Given the description of an element on the screen output the (x, y) to click on. 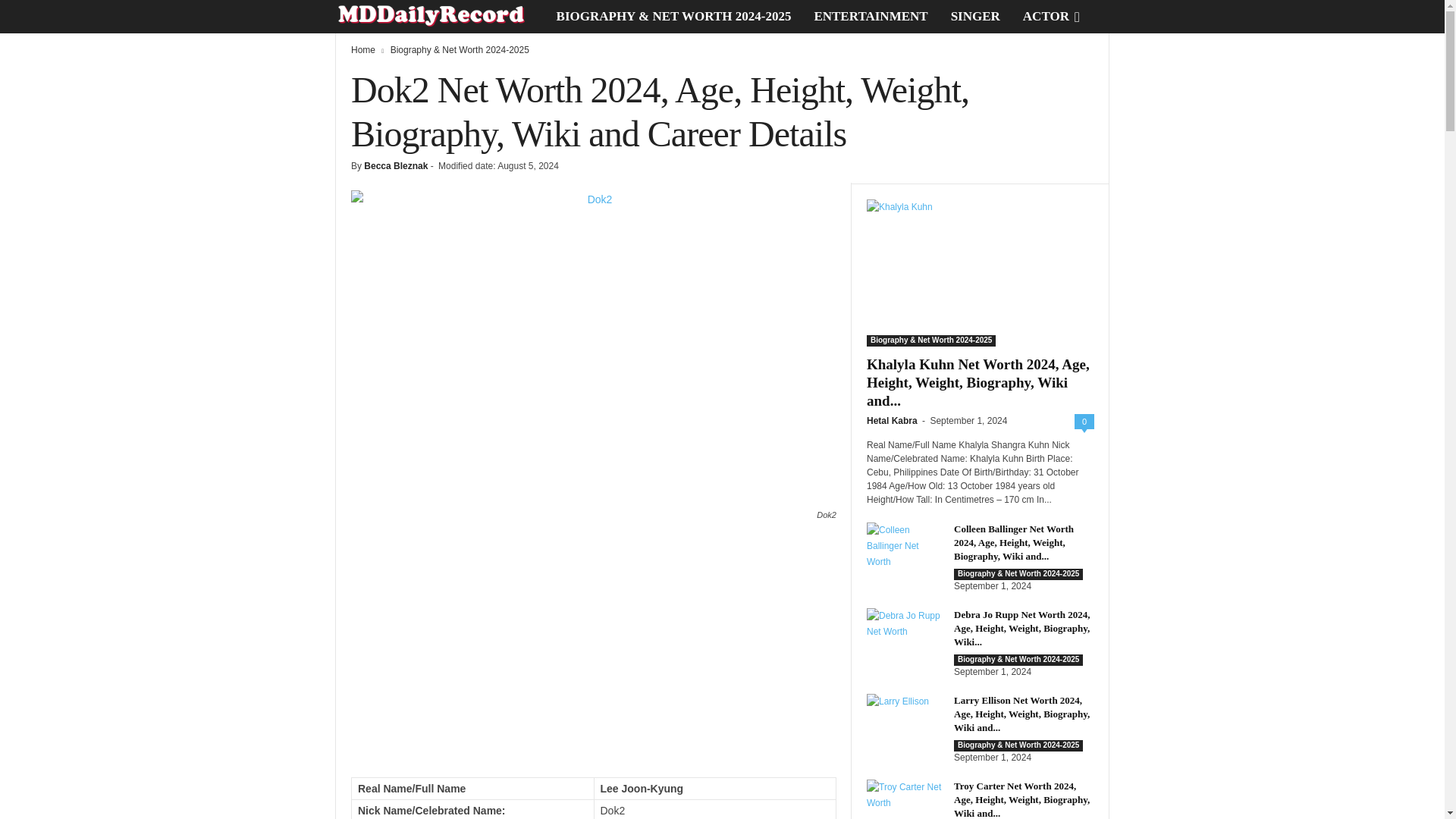
Home (362, 50)
Becca Bleznak (396, 165)
ENTERTAINMENT (870, 16)
ACTOR (1045, 16)
SINGER (975, 16)
MD Daily Record (439, 16)
